Given the description of an element on the screen output the (x, y) to click on. 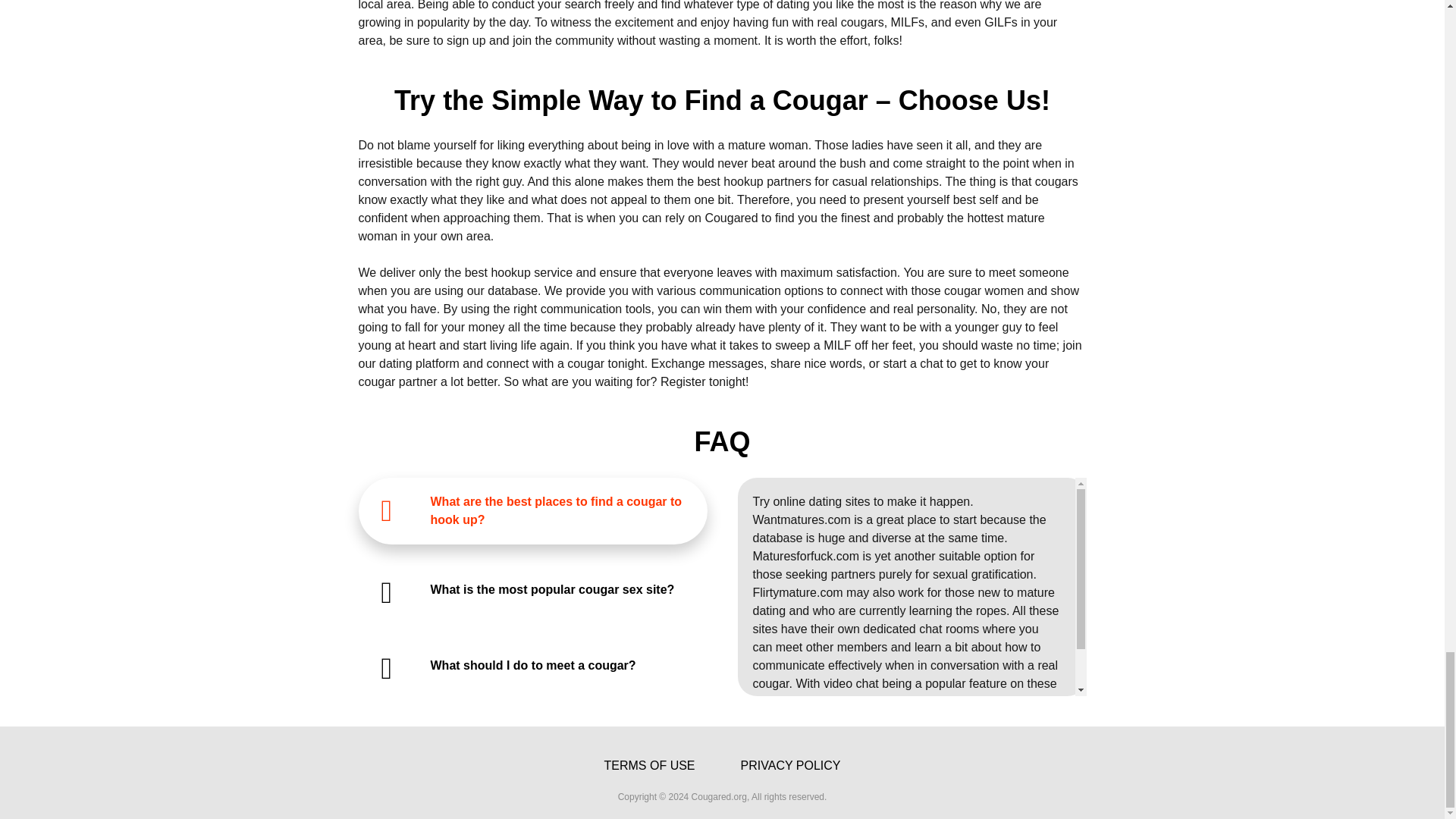
TERMS OF USE (649, 765)
PRIVACY POLICY (791, 765)
